Given the description of an element on the screen output the (x, y) to click on. 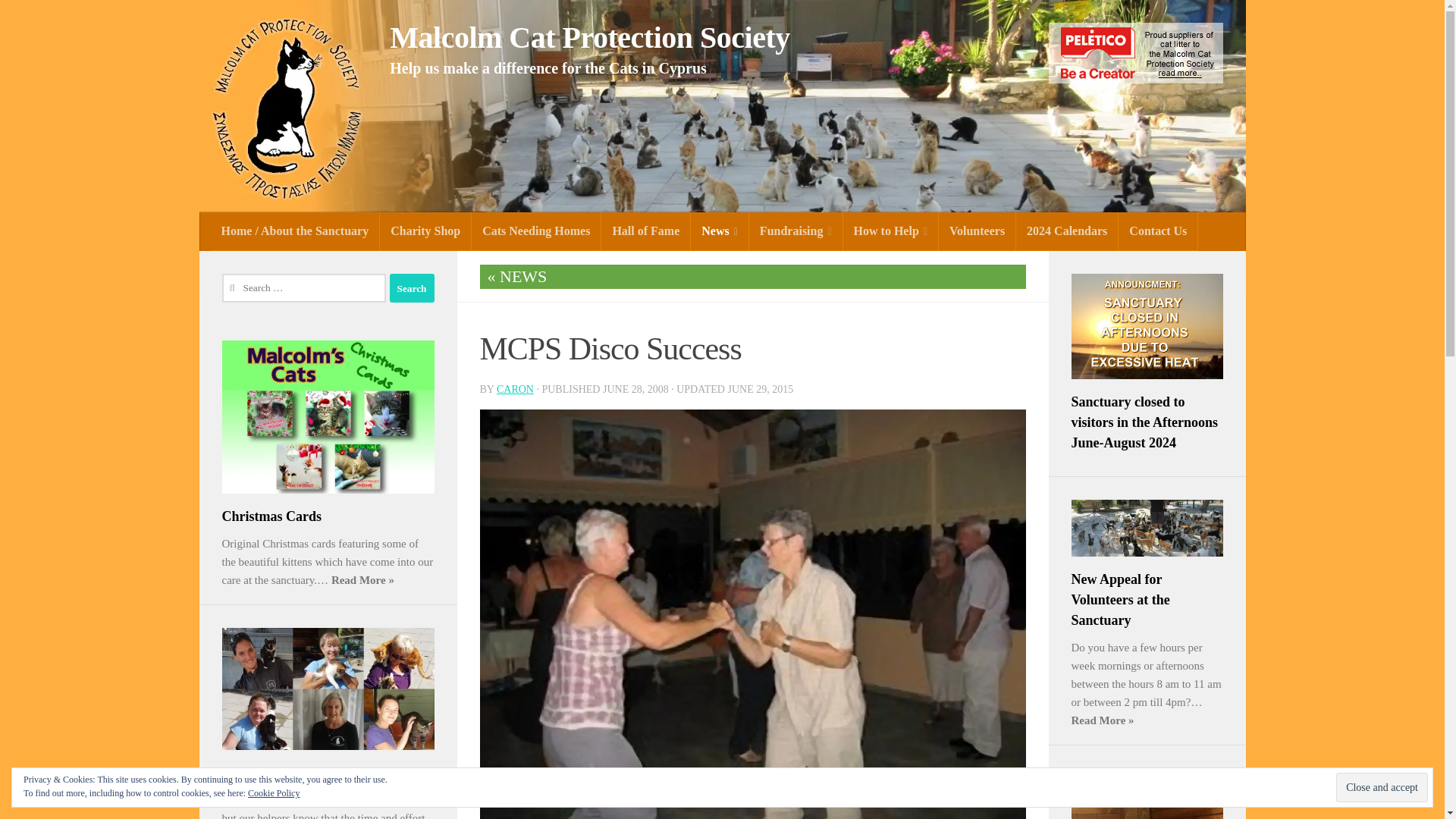
Skip to content (59, 20)
What Can You Do To Help? (891, 231)
News (719, 231)
Search (411, 287)
Cats Needing Homes (536, 231)
Hall of Fame (645, 231)
Charity Shop (425, 231)
Search (411, 287)
Fundraising (796, 231)
Posts by Caron (515, 389)
Malcolm Cat Protection Society (589, 37)
Close and accept (1382, 787)
